Given the description of an element on the screen output the (x, y) to click on. 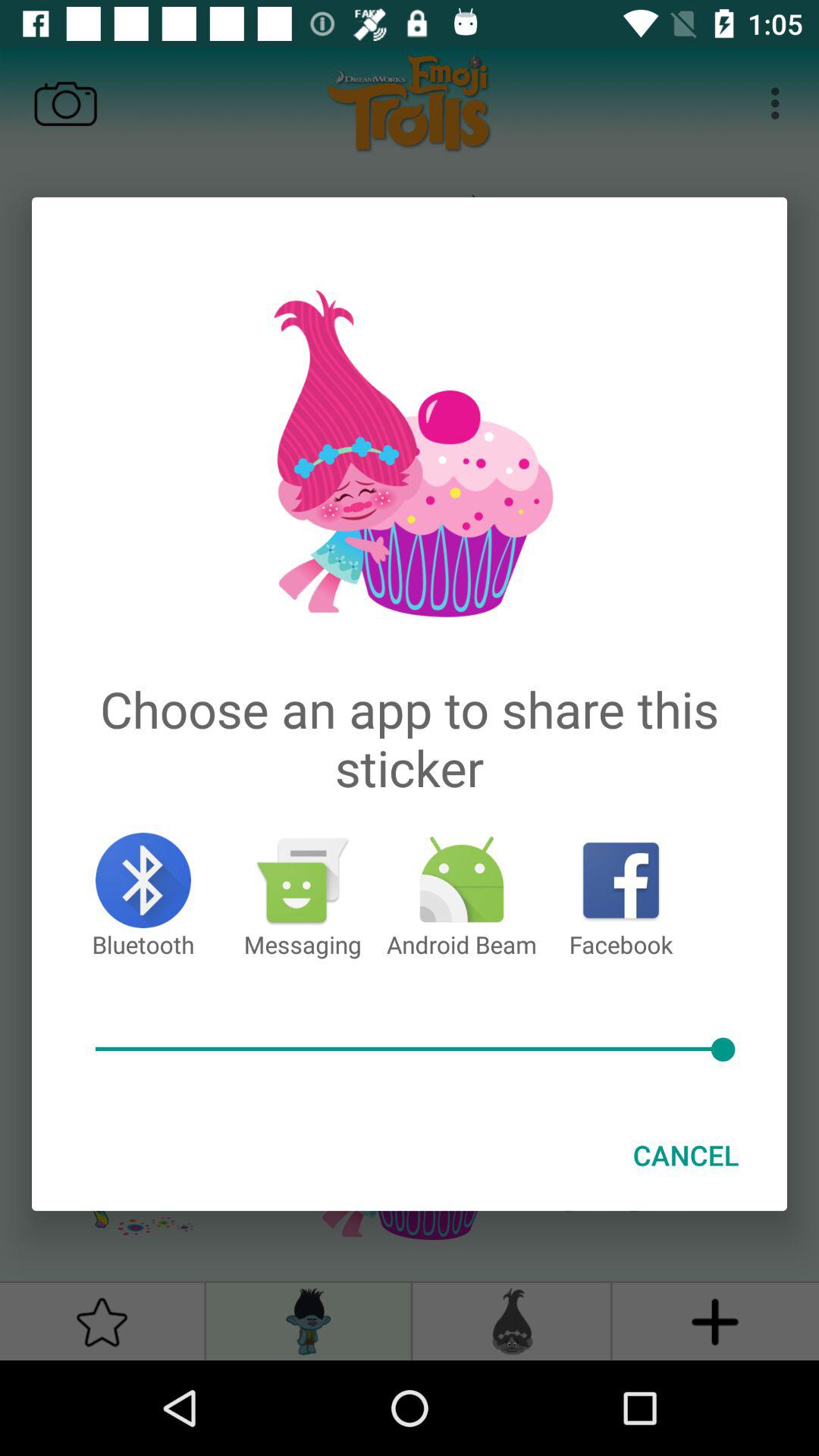
launch the cancel (686, 1154)
